Given the description of an element on the screen output the (x, y) to click on. 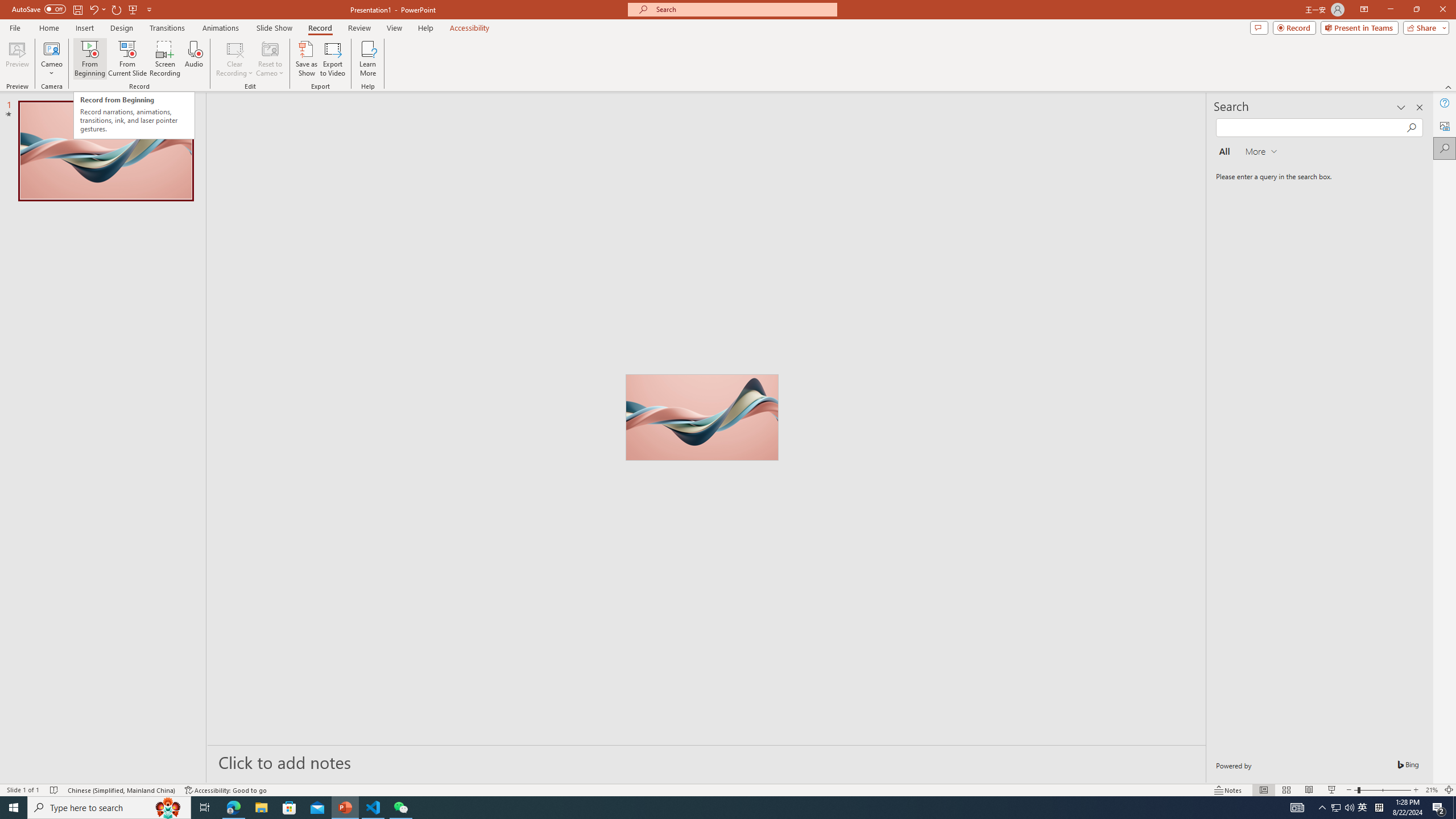
From Current Slide... (127, 58)
From Beginning... (89, 58)
Clear Recording (234, 58)
